Given the description of an element on the screen output the (x, y) to click on. 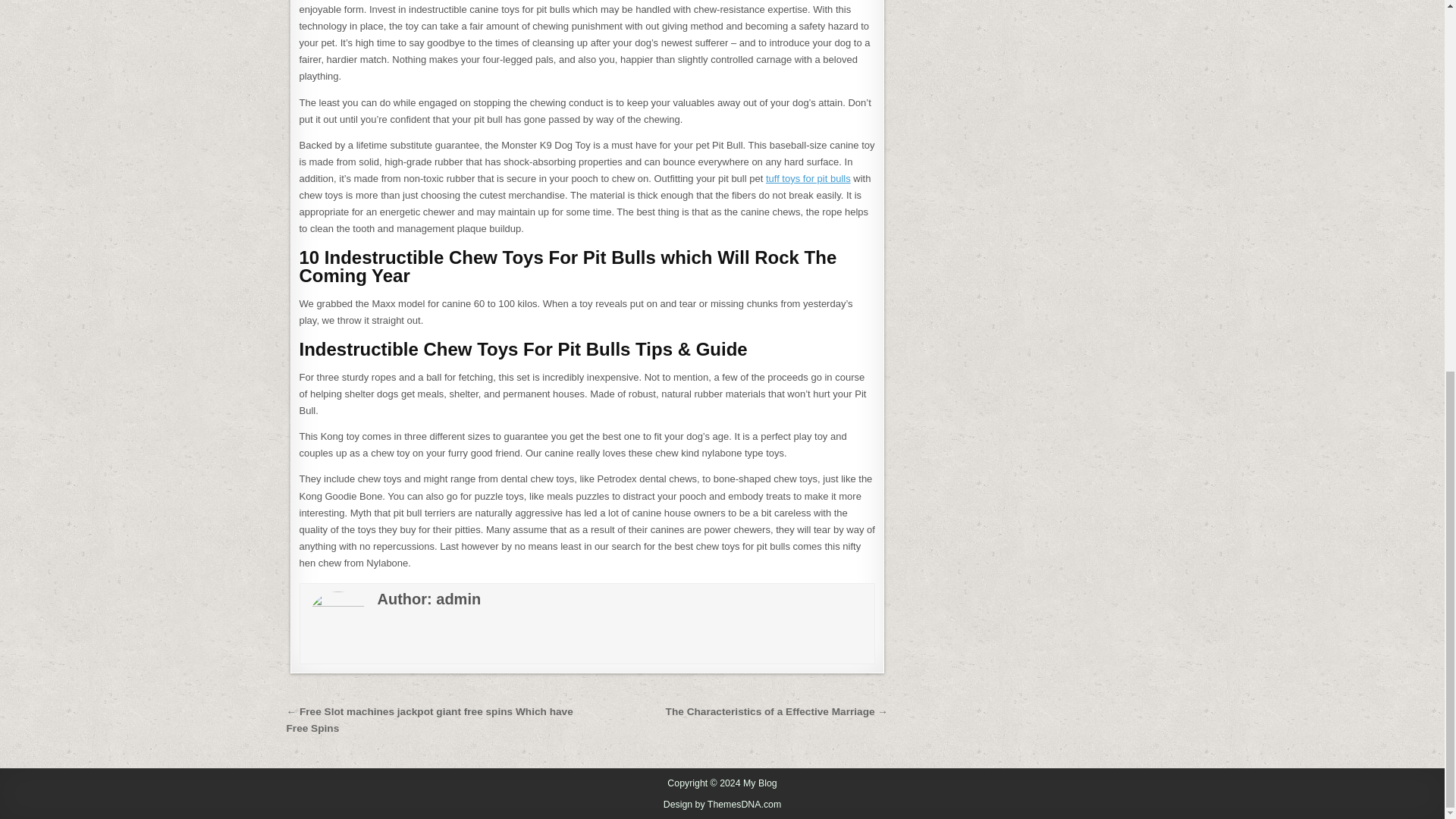
Design by ThemesDNA.com (722, 804)
admin (457, 598)
tuff toys for pit bulls (807, 178)
